Given the description of an element on the screen output the (x, y) to click on. 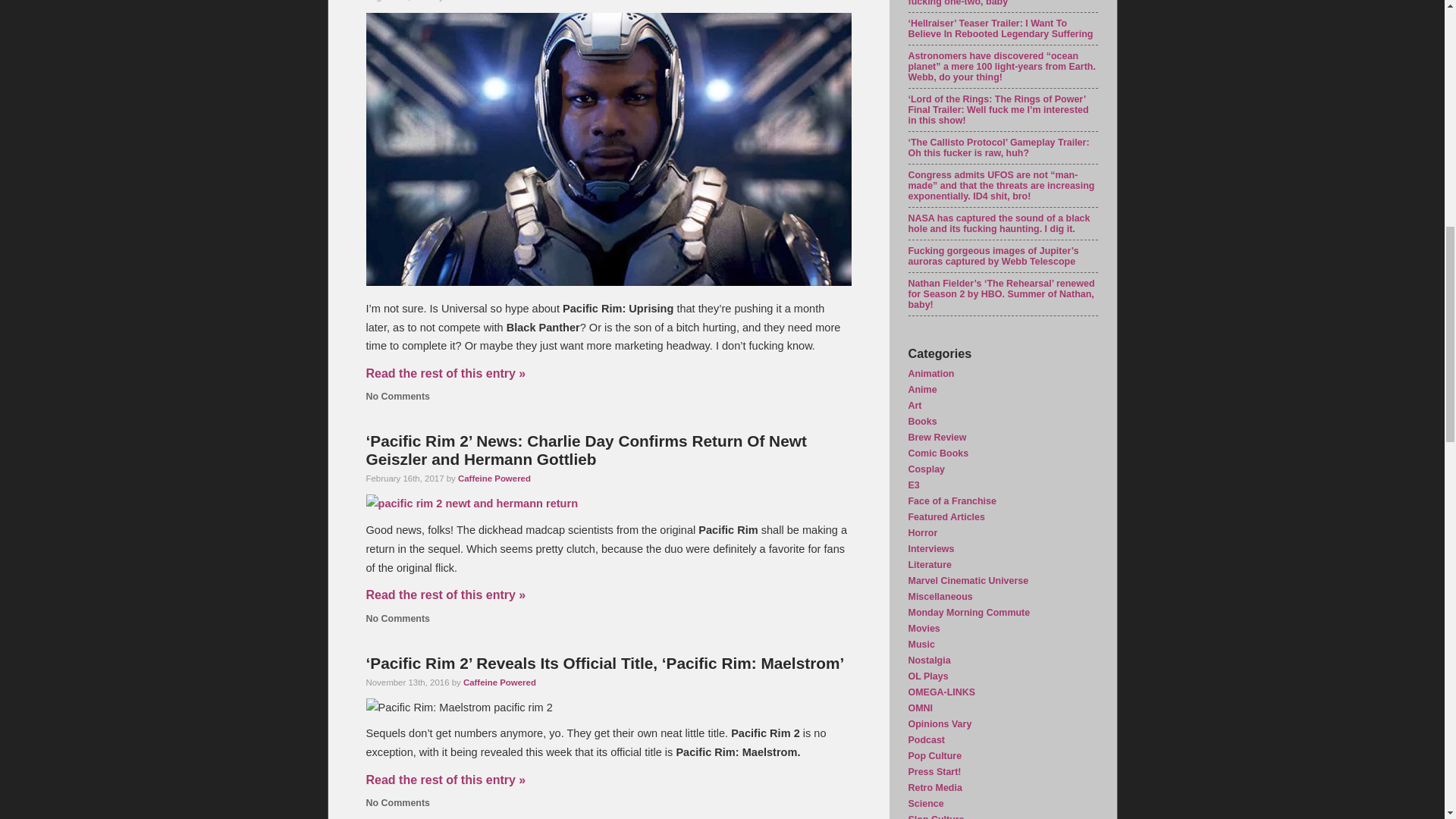
No Comments (397, 396)
No Comments (397, 618)
No Comments (397, 802)
